Given the description of an element on the screen output the (x, y) to click on. 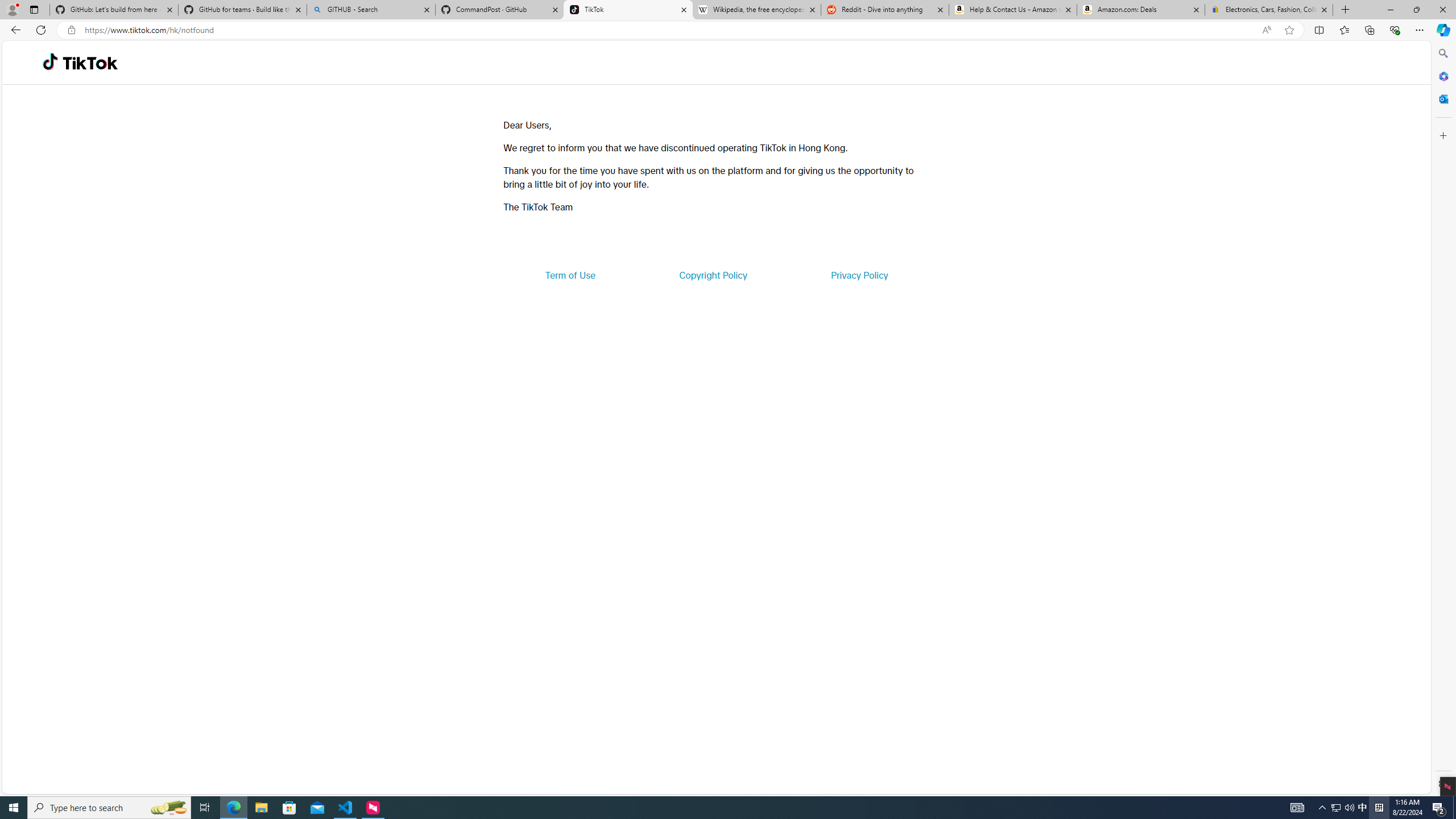
Term of Use (569, 274)
GITHUB - Search (370, 9)
Wikipedia, the free encyclopedia (756, 9)
Privacy Policy (858, 274)
Copyright Policy (712, 274)
